Given the description of an element on the screen output the (x, y) to click on. 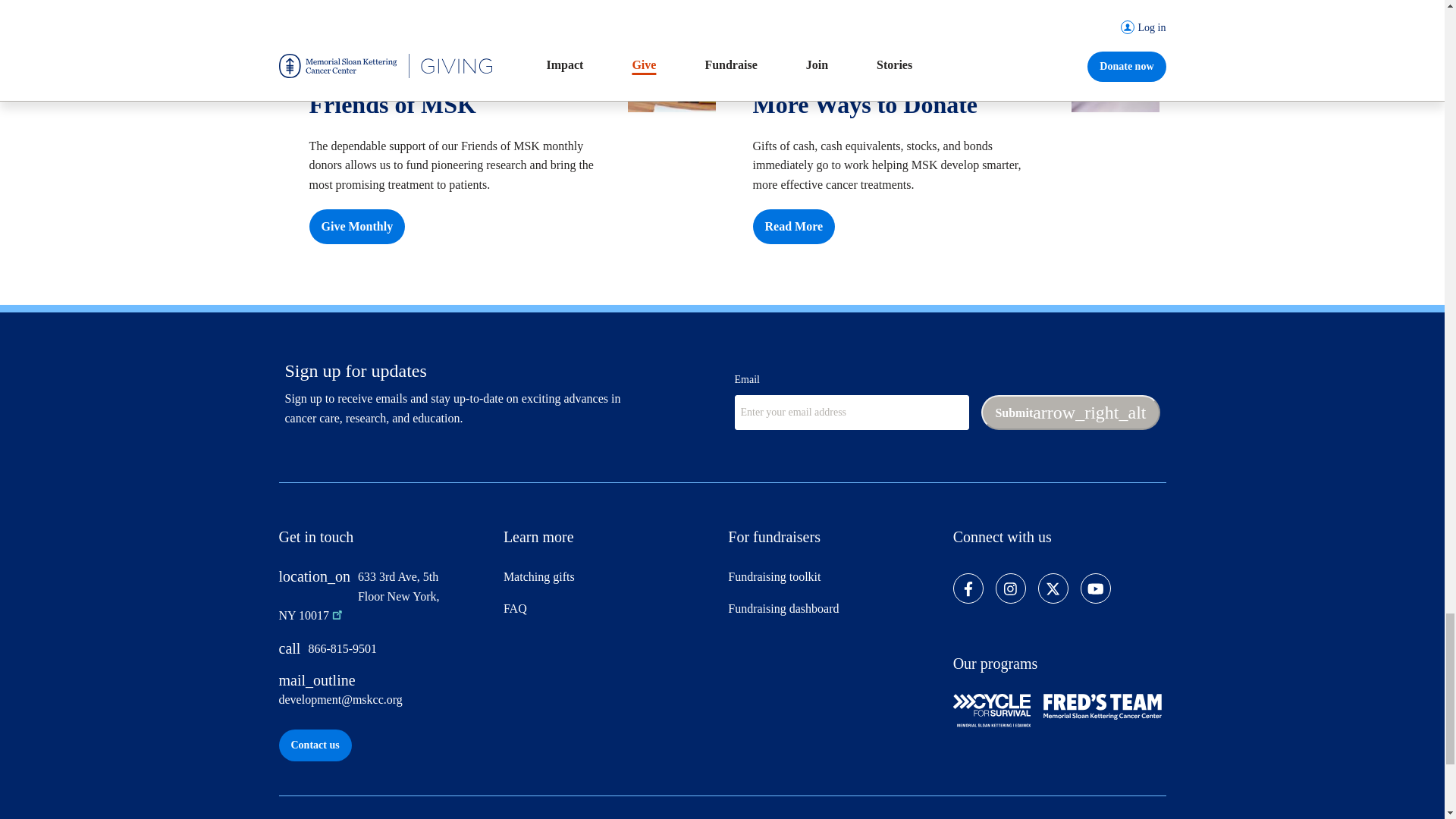
Contact us with questions (315, 745)
Give Monthly (357, 226)
Fundraising toolkit (834, 582)
Contact us (315, 745)
Read More (793, 226)
FAQ (609, 614)
MSK Giving email address (385, 695)
Matching gifts (609, 582)
Fundraising dashboard (834, 614)
Answers to the most Frequently Asked Questions. (609, 614)
MSK Giving mailing address (370, 603)
866-815-9501 (385, 654)
MSK Giving phone number (385, 654)
